Given the description of an element on the screen output the (x, y) to click on. 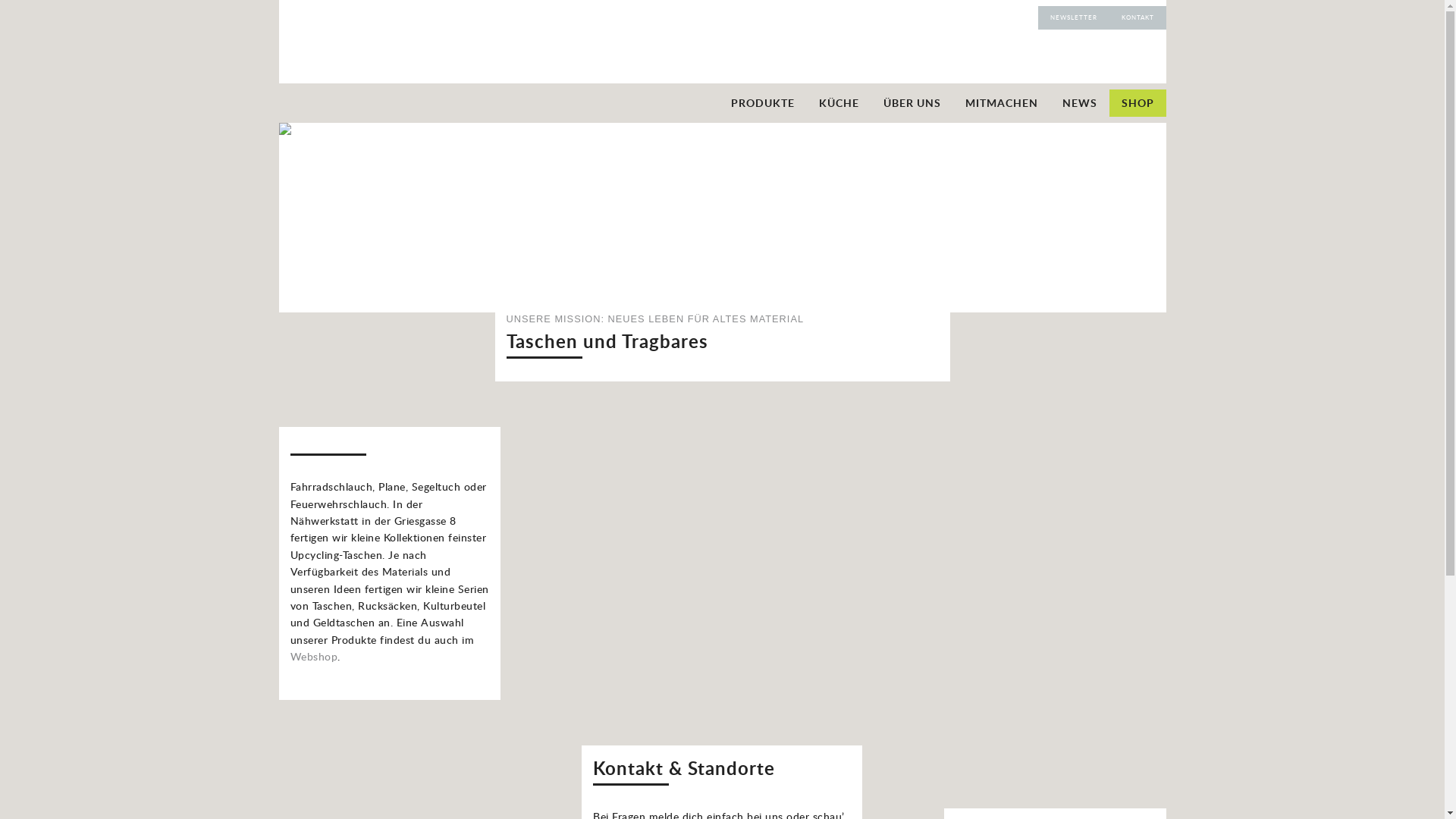
NEWSLETTER Element type: text (1072, 17)
Webshop Element type: text (313, 656)
heidenspass heidenspass Element type: text (388, 63)
MITMACHEN Element type: text (1000, 102)
NEWS Element type: text (1078, 102)
SHOP Element type: text (1136, 102)
KONTAKT Element type: text (1136, 17)
PRODUKTE Element type: text (762, 102)
